Given the description of an element on the screen output the (x, y) to click on. 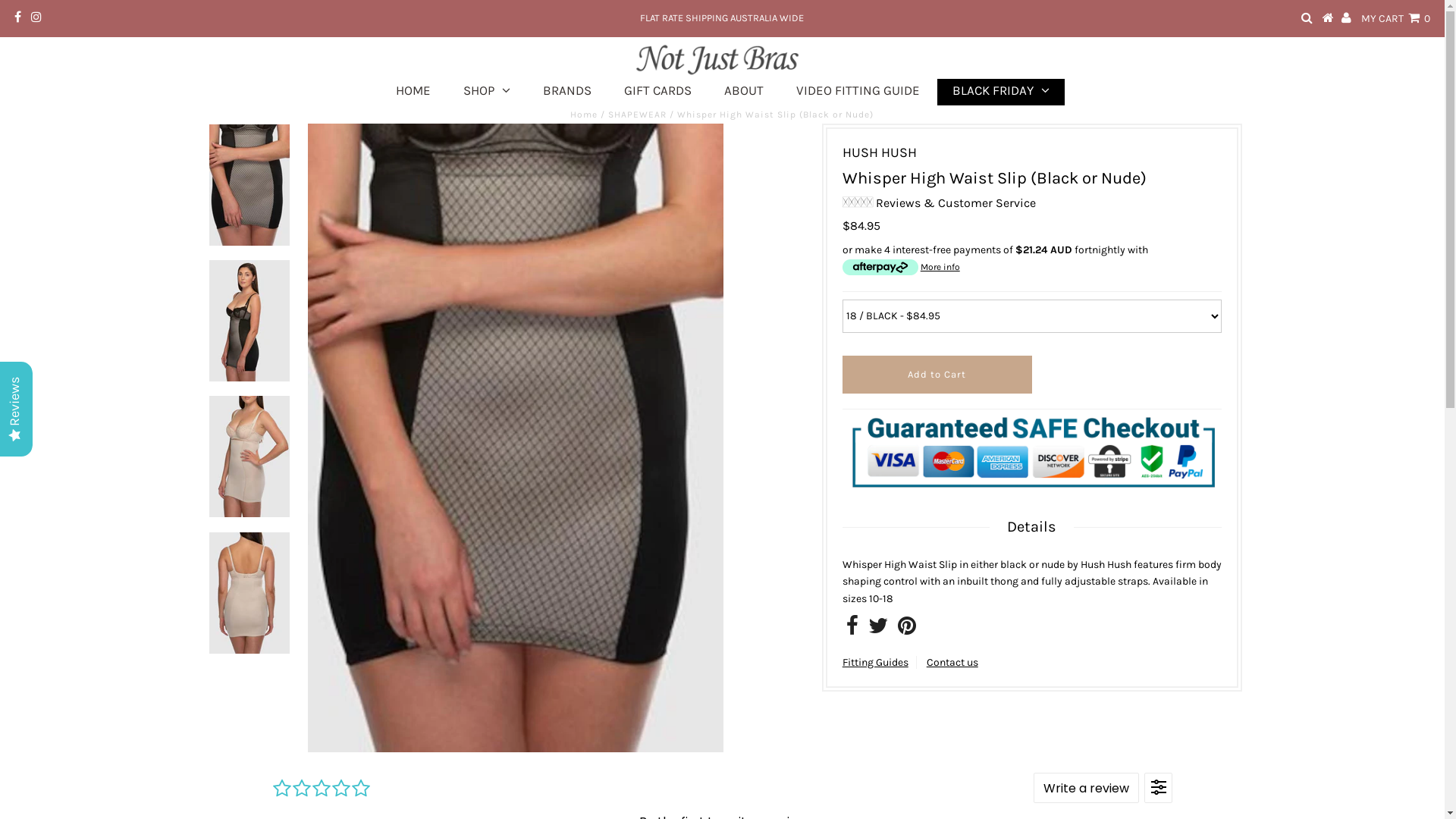
BRANDS Element type: text (566, 91)
BLACK FRIDAY Element type: text (1000, 91)
SHAPEWEAR Element type: text (637, 114)
More info Element type: text (901, 266)
MY CART    0 Element type: text (1395, 18)
SHOP Element type: text (485, 91)
VIDEO FITTING GUIDE Element type: text (858, 91)
Share on Twitter Element type: hover (878, 629)
HOME Element type: text (412, 91)
ABOUT Element type: text (743, 91)
Contact us Element type: text (952, 661)
GIFT CARDS Element type: text (657, 91)
Share on Facebook Element type: hover (852, 629)
Fitting Guides Element type: text (875, 661)
Whisper High Waist Slip (Black or Nude) Element type: hover (515, 438)
Home Element type: text (583, 114)
Share on Pinterest Element type: hover (906, 629)
Add to Cart Element type: text (937, 374)
